Given the description of an element on the screen output the (x, y) to click on. 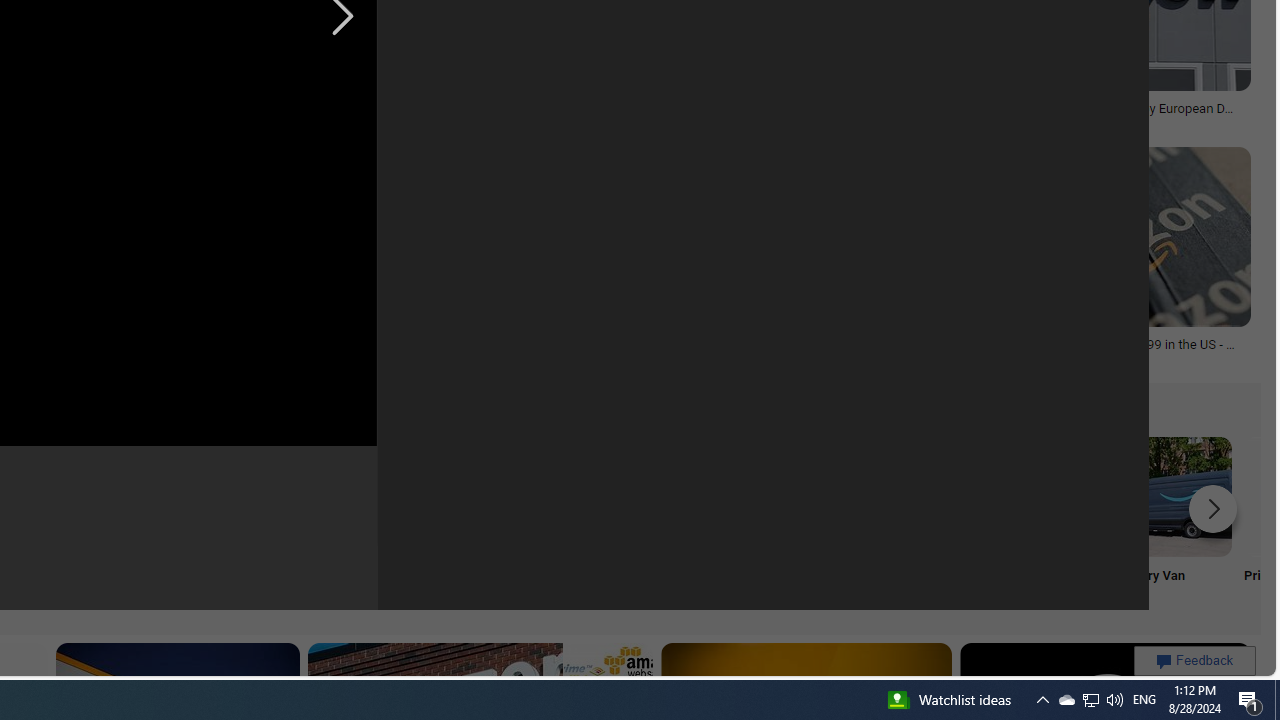
Amazon Prime price jumping to $99 in the US - The Verge (1098, 350)
Amazon Online Shopping Homepage (248, 496)
Amazon Mini TV (116, 496)
Amazon Prime Label Prime Label (511, 521)
thewrap.com (987, 121)
Amazon App Store Download (1039, 496)
Amazon Visa Card Login Visa Card Login (643, 521)
